Given the description of an element on the screen output the (x, y) to click on. 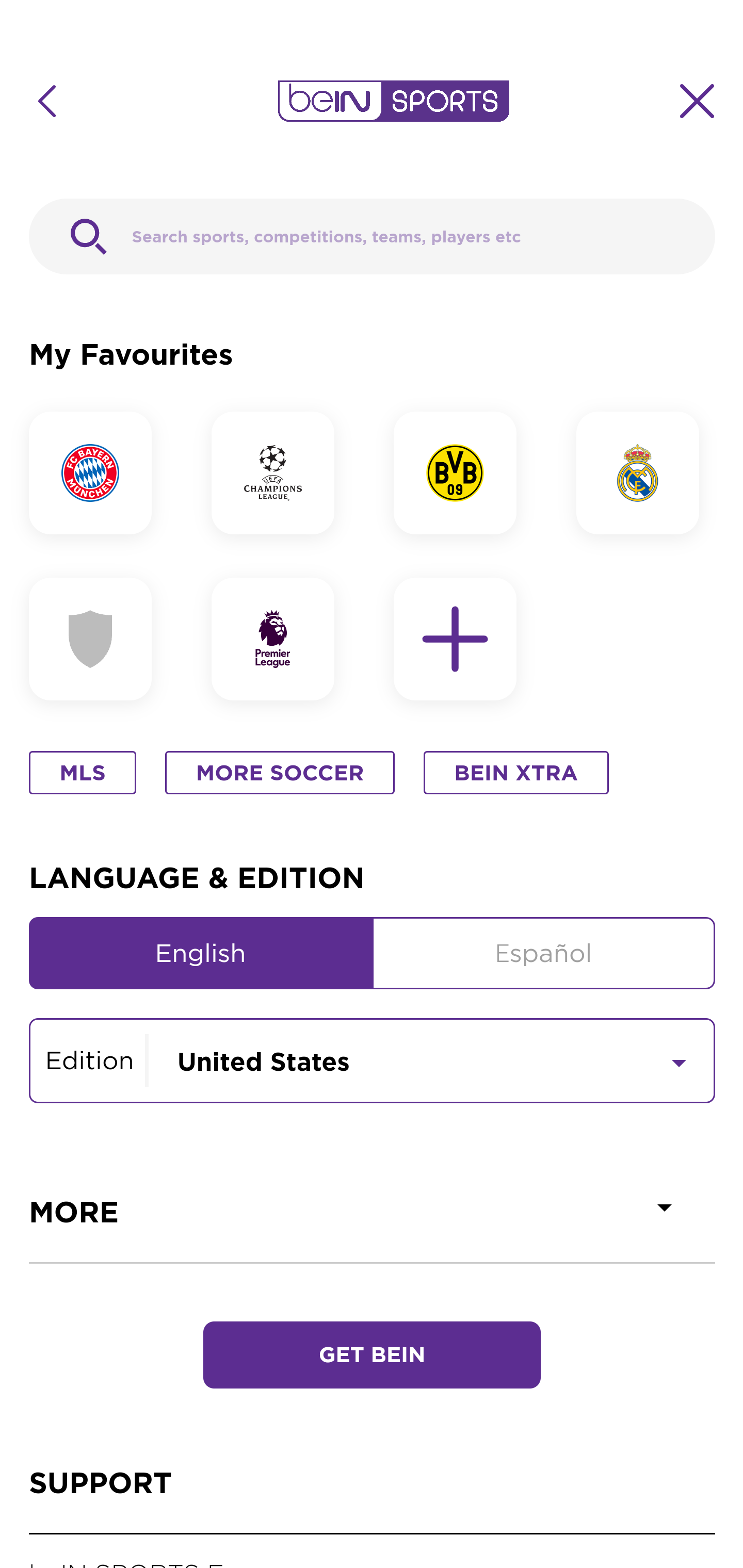
en-us?platform=mobile_android bein logo (392, 101)
icon back (46, 101)
Close Menu Icon (697, 101)
fc-bayern-mnchen-women?platform=mobile_android (98, 472)
uefa-champions-league?platform=mobile_android (280, 472)
bv-borussia-09-dortmund?platform=mobile_android (463, 472)
real-madrid-cf?platform=mobile_android (645, 472)
ncaa-basketball?platform=mobile_android (98, 639)
news?platform=mobile_android (280, 639)
MLS (81, 773)
MORE SOCCER (279, 773)
BEIN XTRA (516, 773)
English (200, 953)
Еspañol (544, 953)
United States (430, 1058)
Knockout stage (372, 1059)
MORE (372, 1211)
GET BEIN (372, 1326)
GET BEIN (371, 1355)
